Given the description of an element on the screen output the (x, y) to click on. 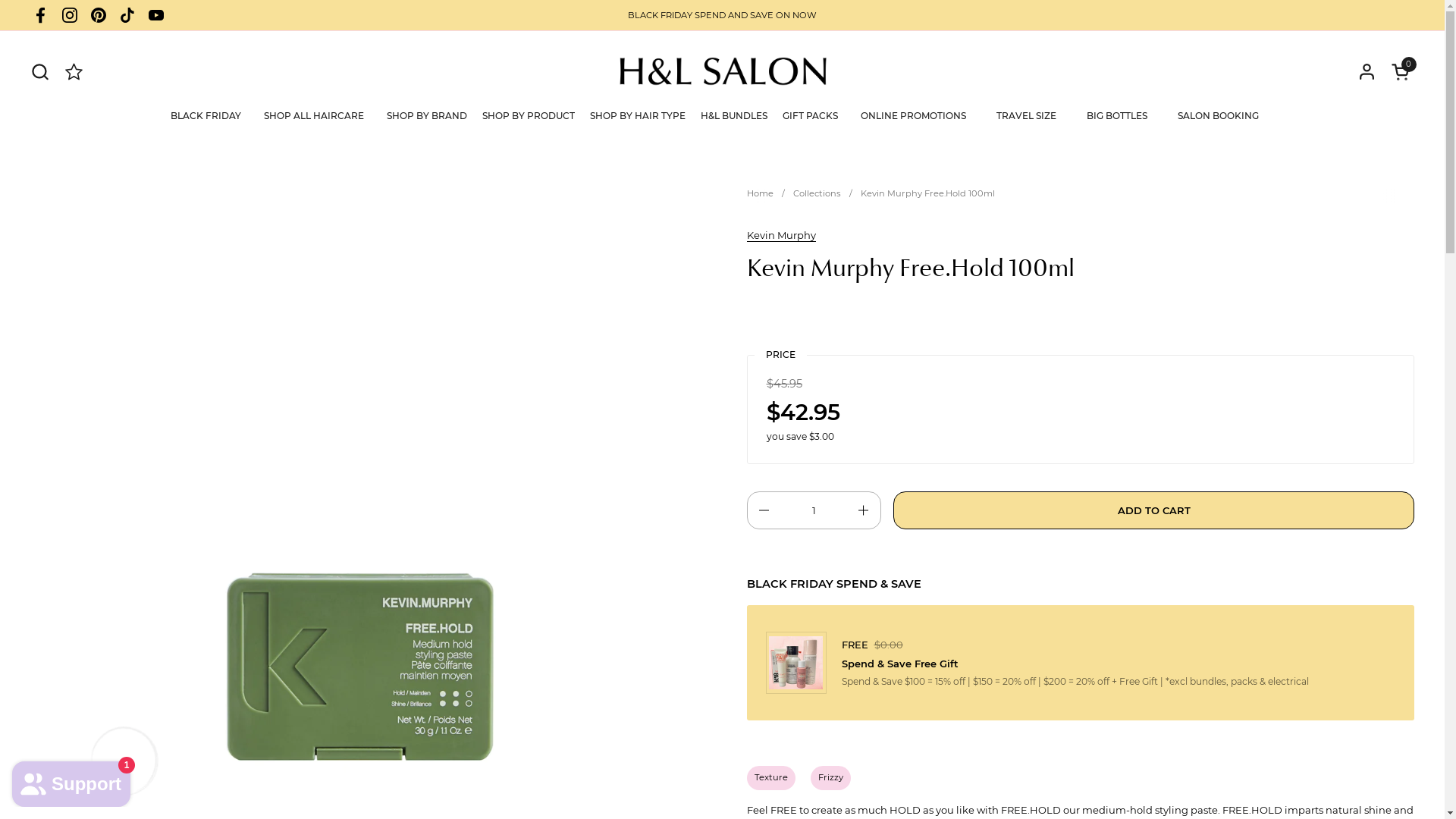
Open cart
0 Element type: text (1402, 71)
GIFT PACKS Element type: text (810, 115)
Kevin Murphy Element type: text (780, 235)
Skip to content Element type: text (0, 0)
ADD TO CART Element type: text (1153, 510)
Rewards Element type: hover (73, 71)
BLACK FRIDAY SPEND AND SAVE ON NOW Element type: text (721, 15)
YouTube Element type: text (155, 14)
BLACK FRIDAY Element type: text (205, 115)
Shopify online store chat Element type: hover (70, 780)
SHOP BY PRODUCT Element type: text (528, 115)
Pinterest Element type: text (98, 14)
H&L SALON  Element type: hover (722, 70)
ONLINE PROMOTIONS Element type: text (913, 115)
SHOP BY BRAND Element type: text (426, 115)
Facebook Element type: text (40, 14)
Open search Element type: hover (39, 71)
Home Element type: text (759, 194)
SHOP ALL HAIRCARE Element type: text (313, 115)
BIG BOTTLES Element type: text (1116, 115)
H&L BUNDLES Element type: text (734, 115)
Spend & Save Free Gift Element type: text (1118, 663)
Collections Element type: text (816, 194)
SALON BOOKING Element type: text (1218, 115)
Instagram Element type: text (69, 14)
TikTok Element type: text (126, 14)
SHOP BY HAIR TYPE Element type: text (637, 115)
TRAVEL SIZE Element type: text (1026, 115)
